Given the description of an element on the screen output the (x, y) to click on. 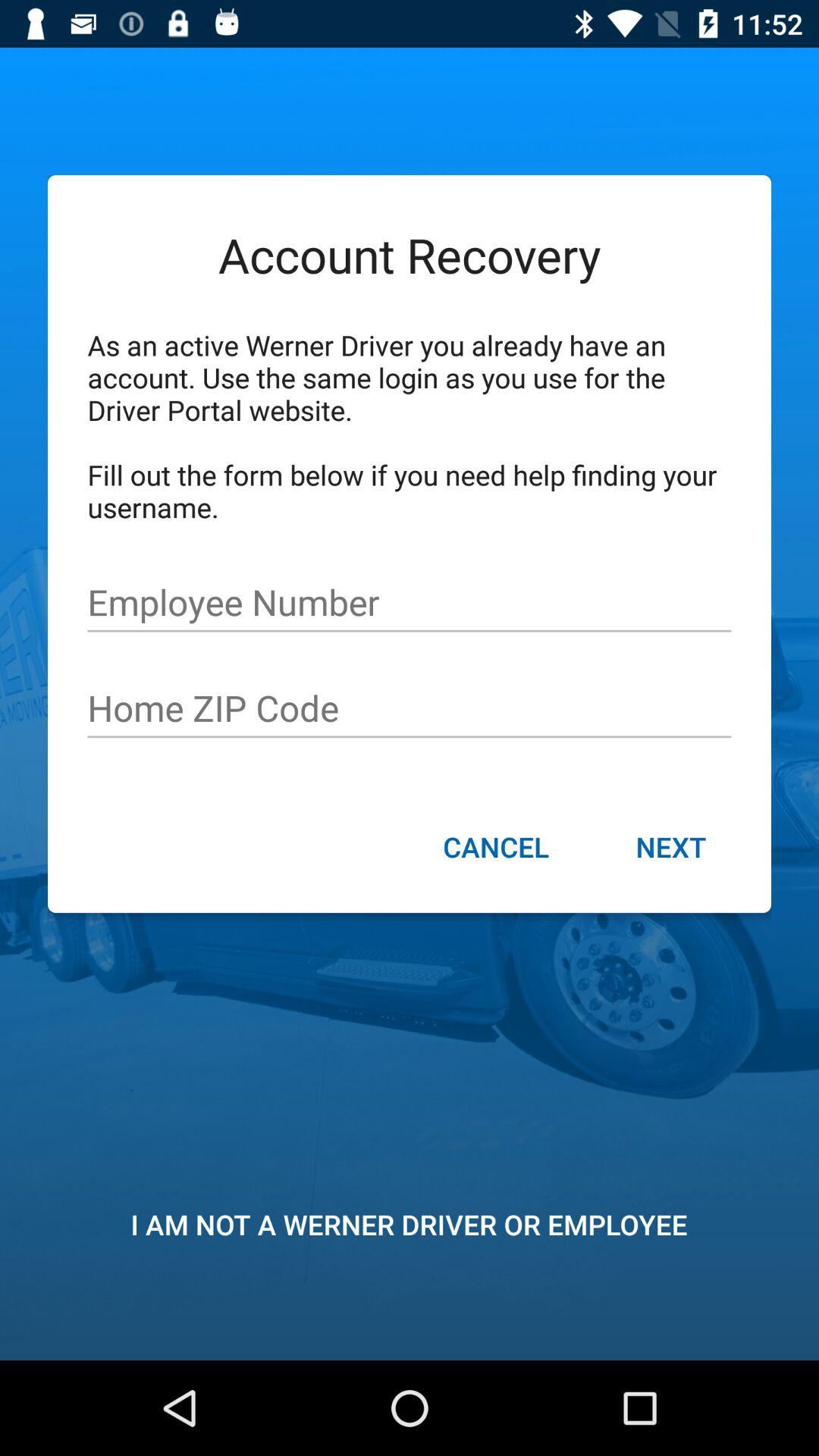
flip to i am not item (408, 1224)
